Given the description of an element on the screen output the (x, y) to click on. 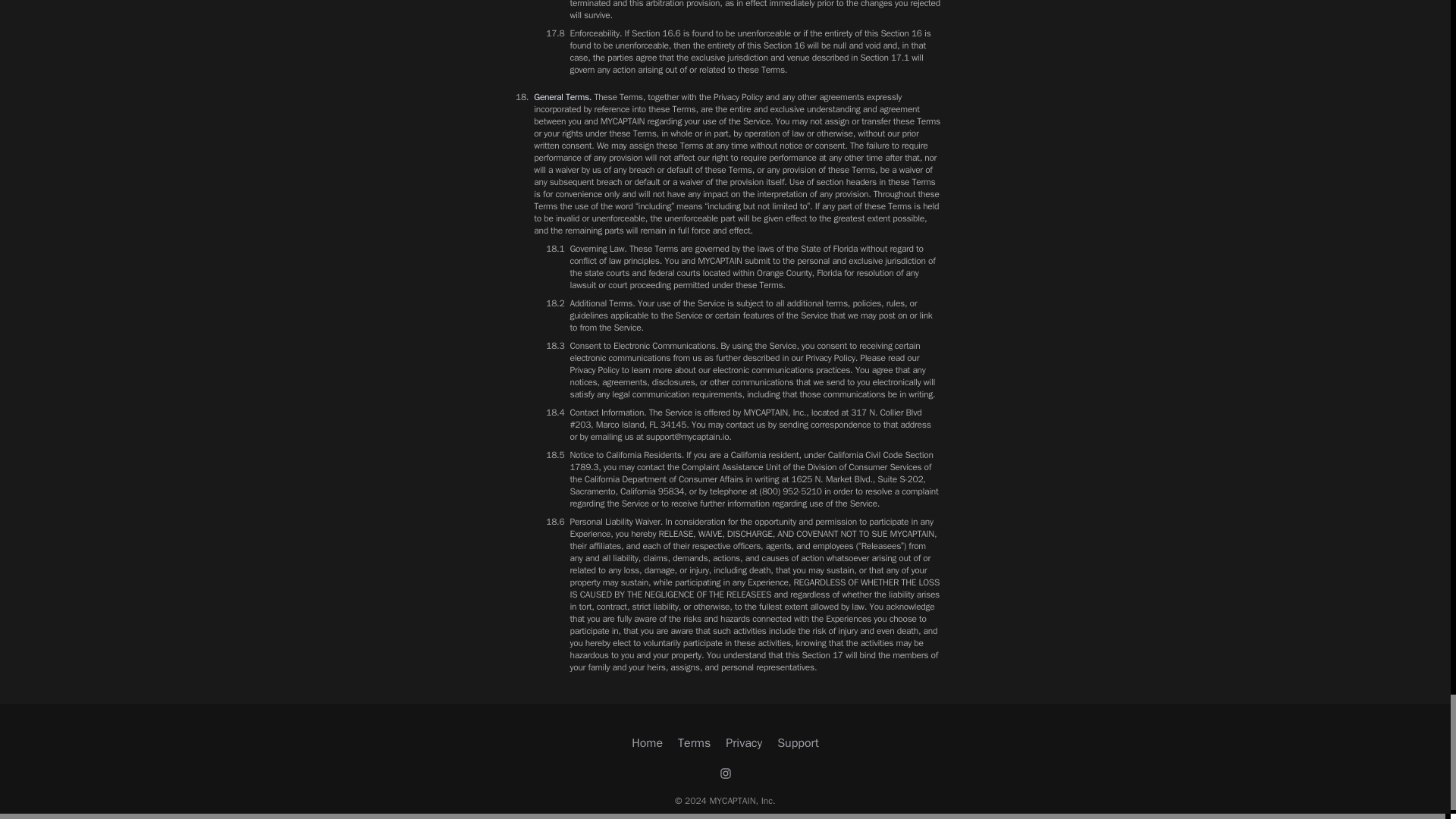
Privacy (743, 742)
Support (797, 742)
Instagram (724, 773)
Terms (694, 742)
Home (646, 742)
